Given the description of an element on the screen output the (x, y) to click on. 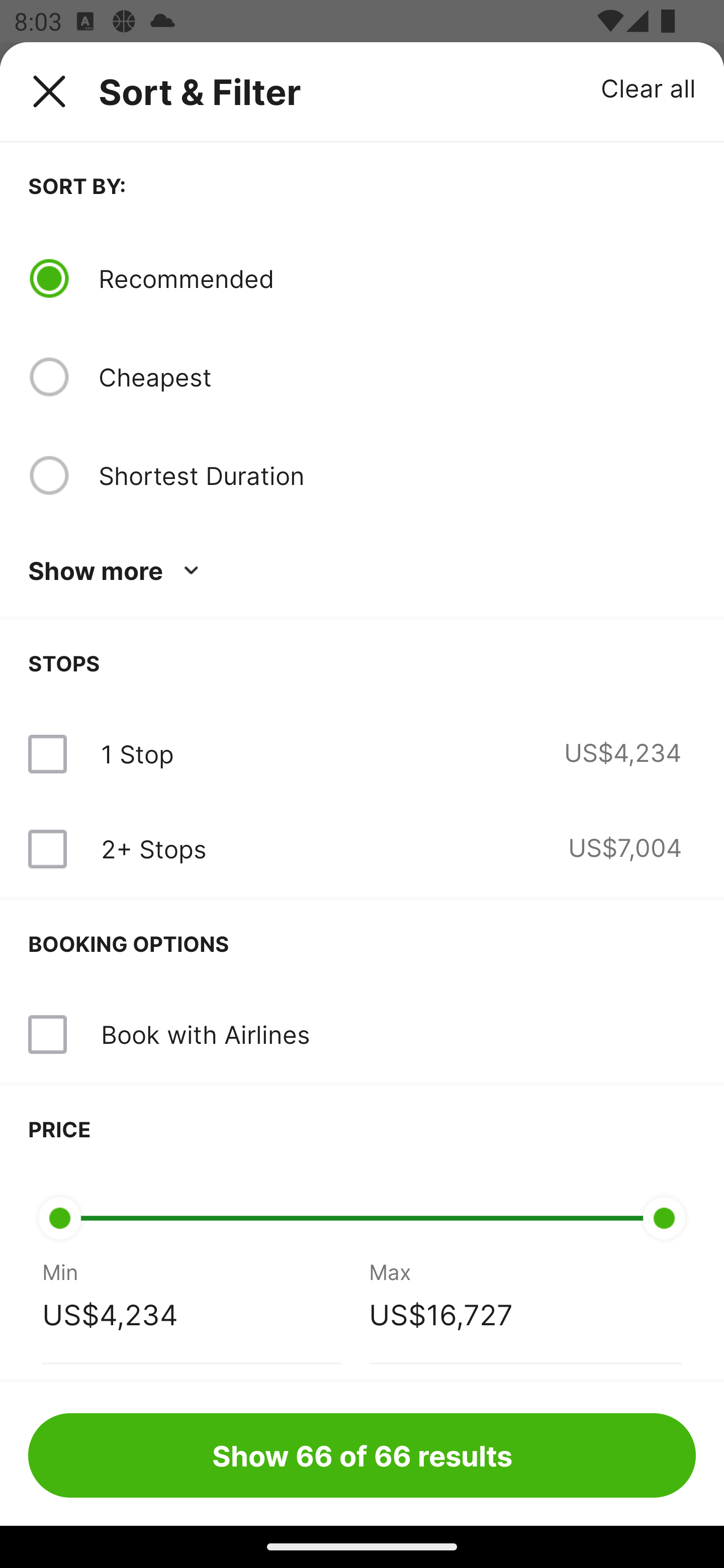
Clear all (648, 87)
Recommended  (396, 278)
Cheapest (396, 377)
Shortest Duration (396, 474)
Show more (116, 570)
1 Stop US$4,234 (362, 754)
1 Stop (136, 753)
2+ Stops US$7,004 (362, 848)
2+ Stops (153, 849)
Book with Airlines (362, 1033)
Book with Airlines (204, 1034)
Show 66 of 66 results (361, 1454)
